Given the description of an element on the screen output the (x, y) to click on. 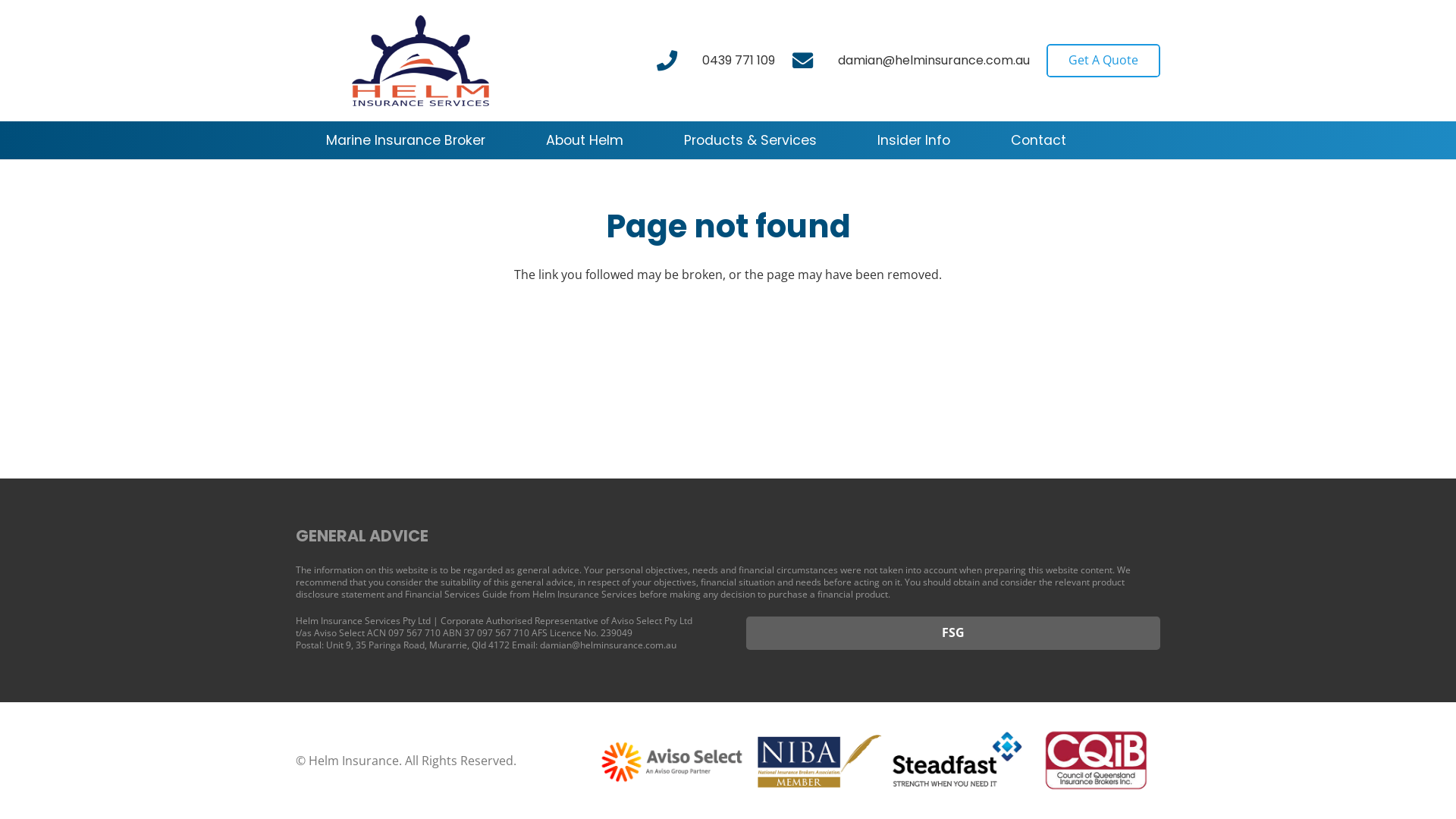
About Helm Element type: text (584, 140)
Products & Services Element type: text (750, 140)
Marine Insurance Broker Element type: text (405, 140)
Contact Element type: text (1038, 140)
Get A Quote Element type: text (1103, 60)
FSG Element type: text (953, 633)
Insider Info Element type: text (913, 140)
damian@helminsurance.com.au Element type: text (933, 60)
0439 771 109 Element type: text (738, 60)
